Given the description of an element on the screen output the (x, y) to click on. 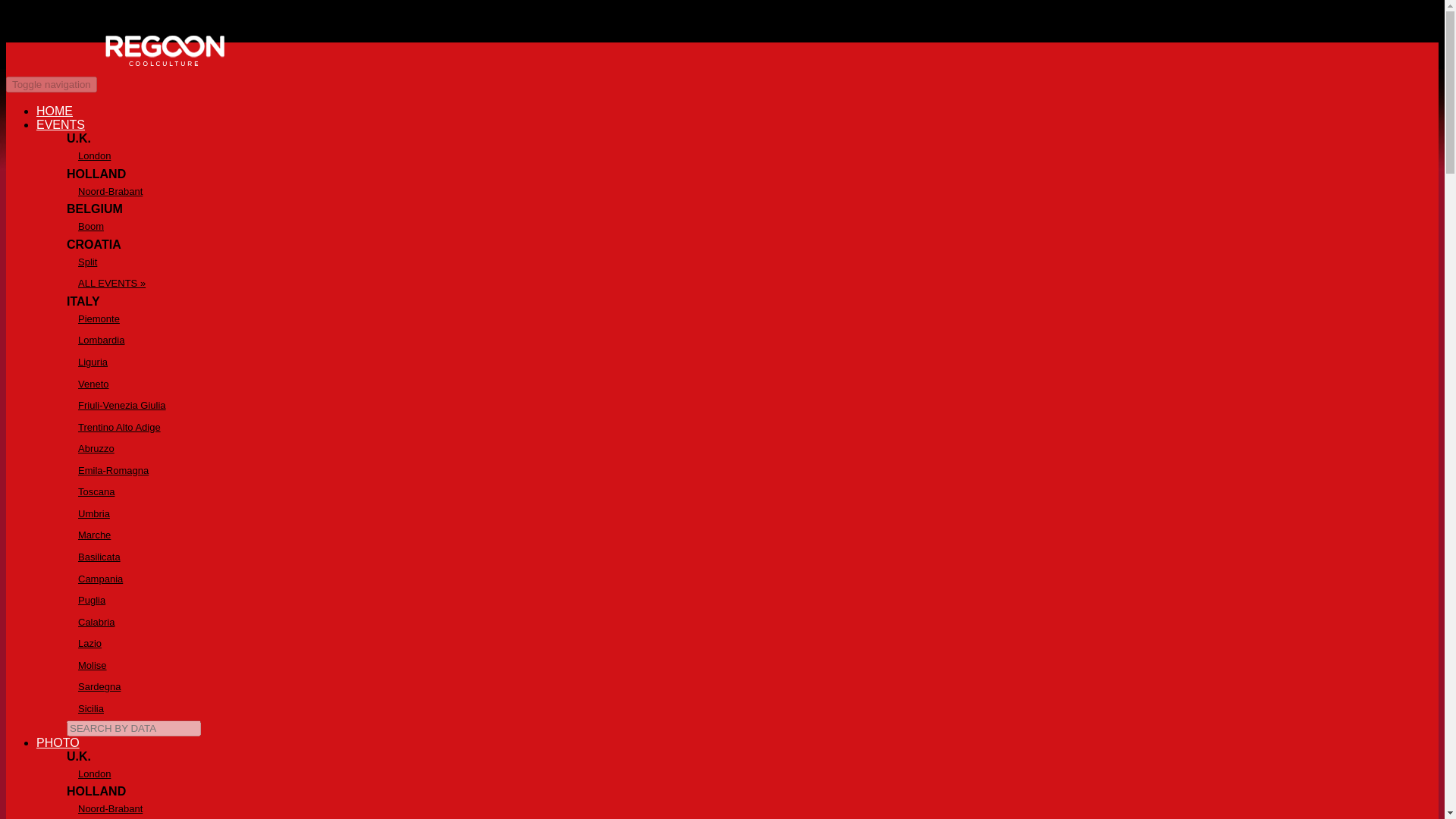
Molise (752, 666)
London (752, 156)
Toggle navigation (51, 84)
Liguria (752, 362)
Piemonte (752, 319)
Toscana (752, 492)
Abruzzo (752, 449)
London (752, 773)
Noord-Brabant (752, 191)
Calabria (752, 622)
Lombardia (752, 341)
Noord-Brabant (752, 808)
Sicilia (752, 709)
Campania (752, 579)
Lazio (752, 644)
